Given the description of an element on the screen output the (x, y) to click on. 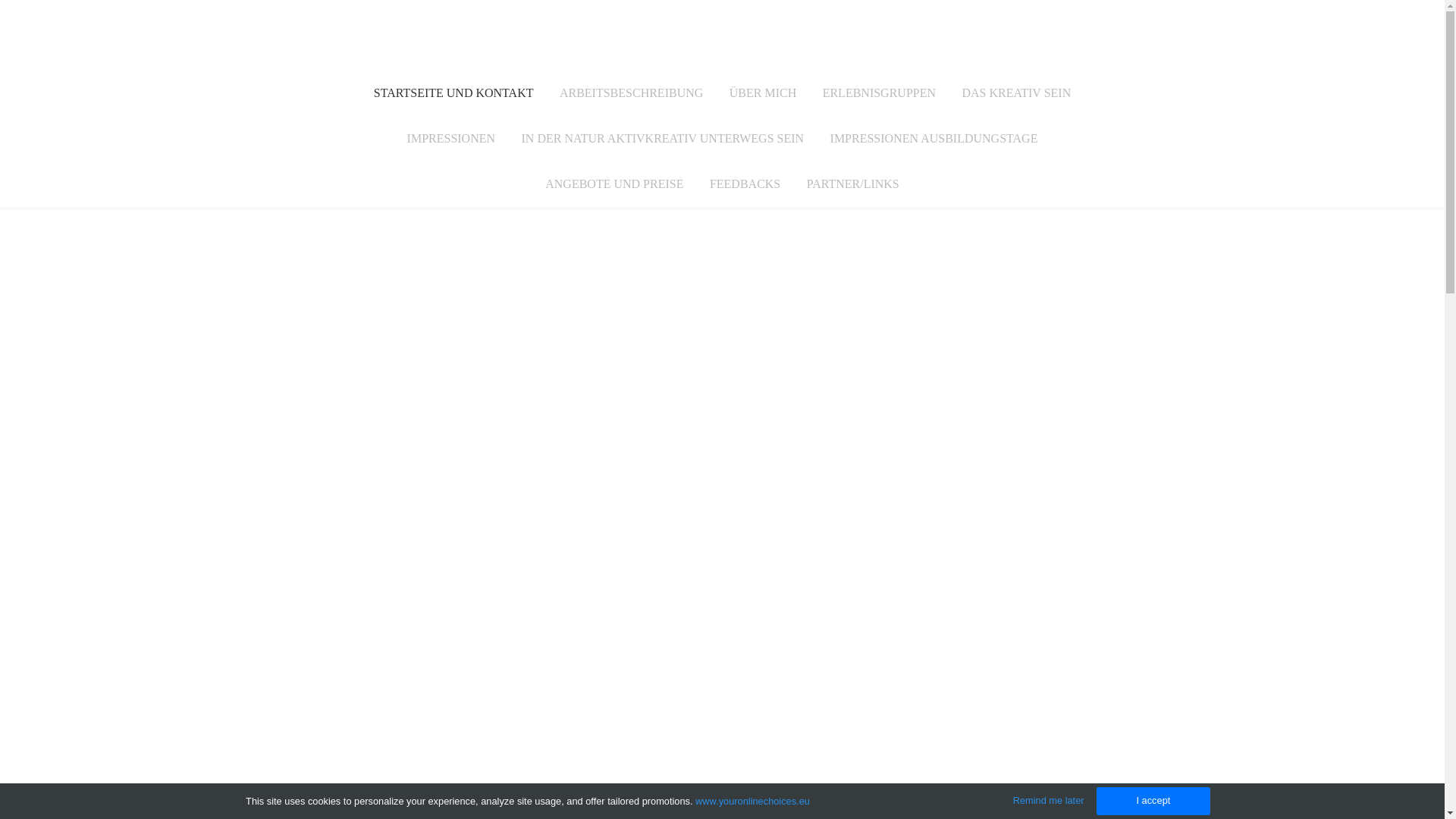
ERLEBNISGRUPPEN Element type: text (879, 93)
DAS KREATIV SEIN Element type: text (1016, 93)
FEEDBACKS Element type: text (744, 184)
I accept Element type: text (1153, 801)
IMPRESSIONEN Element type: text (450, 138)
PARTNER/LINKS Element type: text (852, 184)
STARTSEITE UND KONTAKT Element type: text (453, 93)
IN DER NATUR AKTIVKREATIV UNTERWEGS SEIN Element type: text (662, 138)
ARBEITSBESCHREIBUNG Element type: text (631, 93)
ANGEBOTE UND PREISE Element type: text (613, 184)
IMPRESSIONEN AUSBILDUNGSTAGE Element type: text (934, 138)
Remind me later Element type: text (1048, 800)
www.youronlinechoices.eu Element type: text (752, 800)
